Given the description of an element on the screen output the (x, y) to click on. 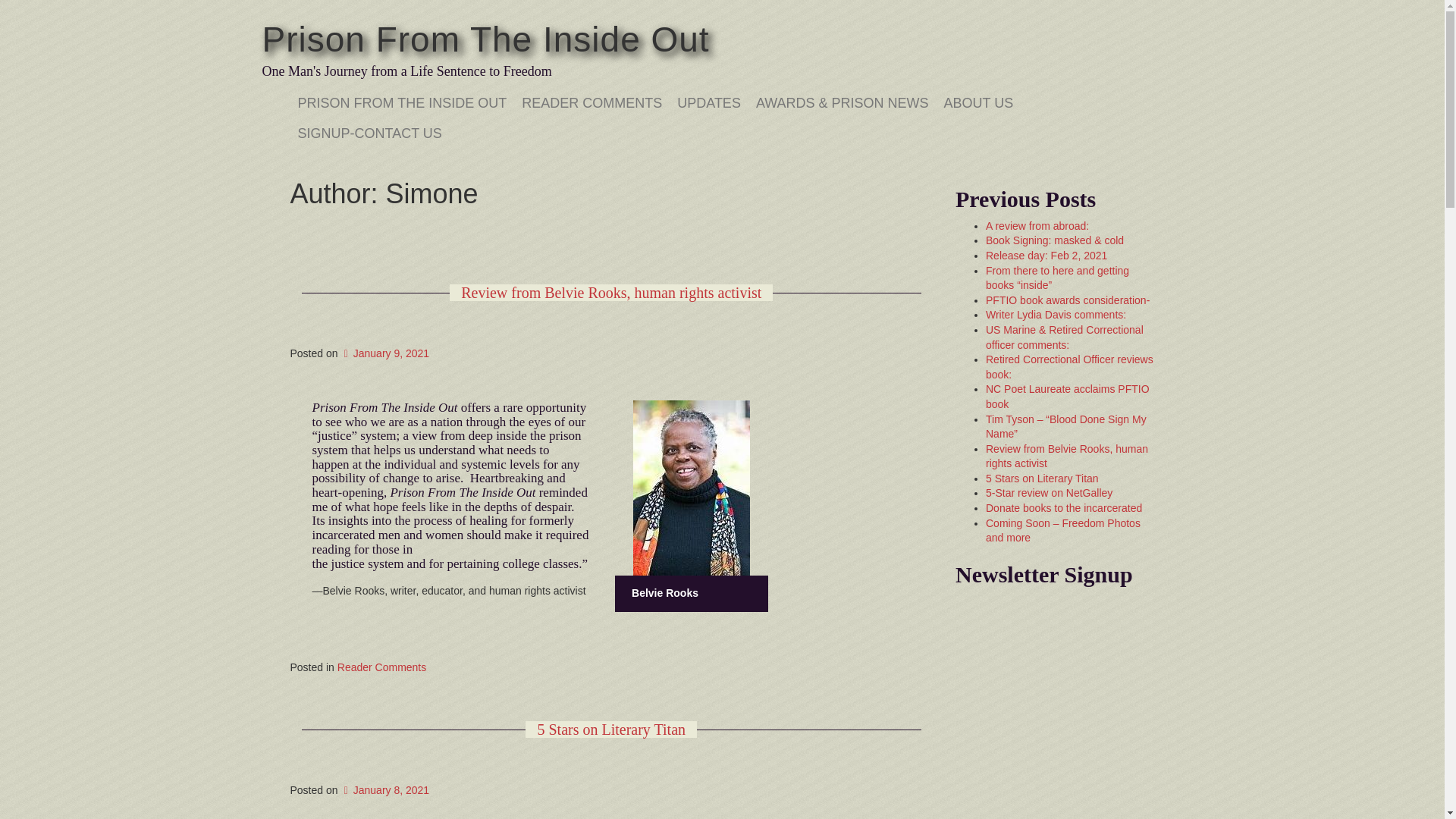
Reader Comments (381, 666)
READER COMMENTS (591, 102)
ABOUT US (979, 102)
Writer Lydia Davis comments: (1055, 314)
SIGNUP-CONTACT US (368, 132)
A review from abroad: (1037, 225)
Release day: Feb 2, 2021 (1045, 255)
UPDATES (708, 102)
PFTIO book awards consideration- (1067, 300)
5 Stars on Literary Titan (611, 729)
